Given the description of an element on the screen output the (x, y) to click on. 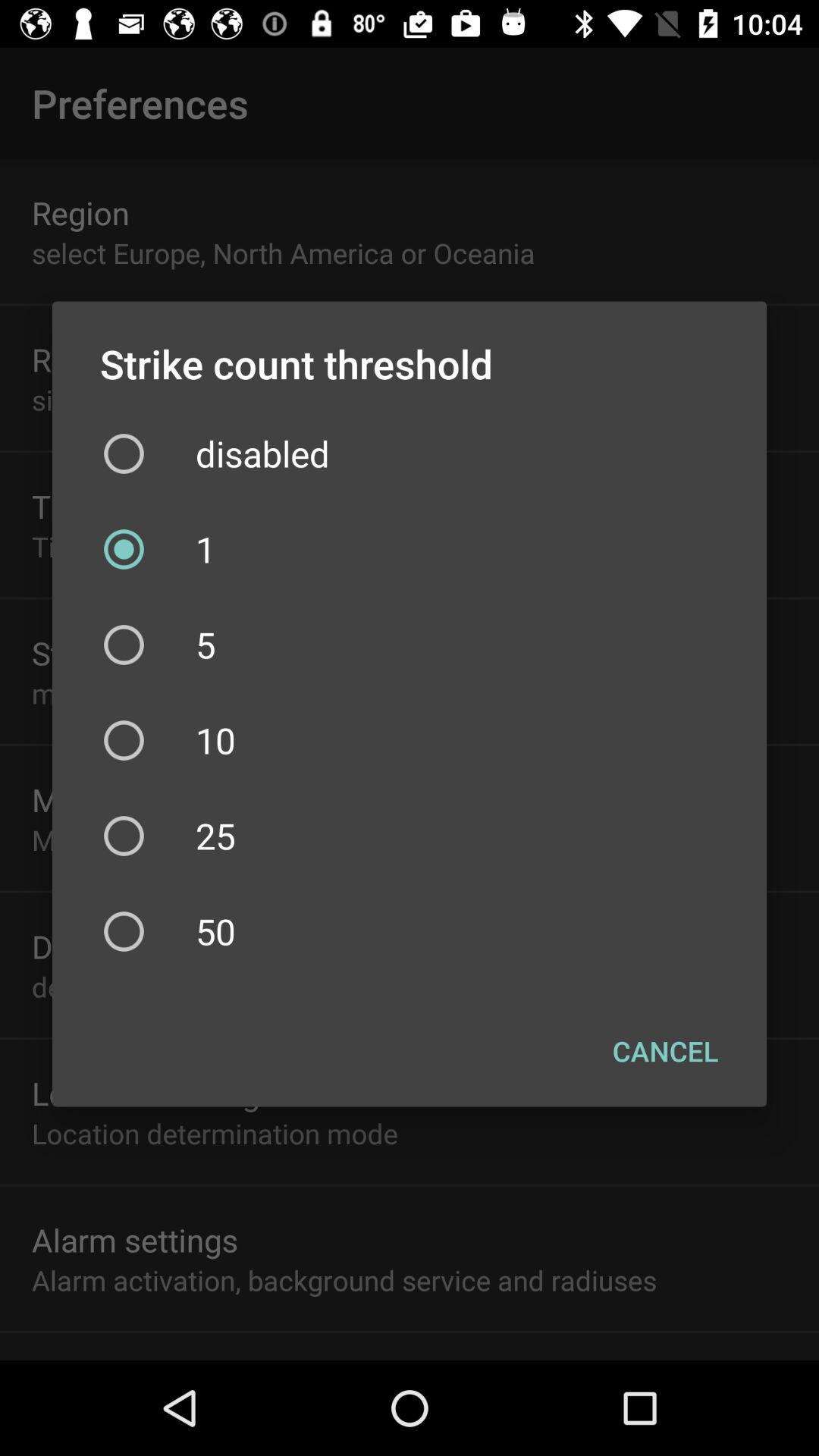
turn on the cancel button (665, 1050)
